Given the description of an element on the screen output the (x, y) to click on. 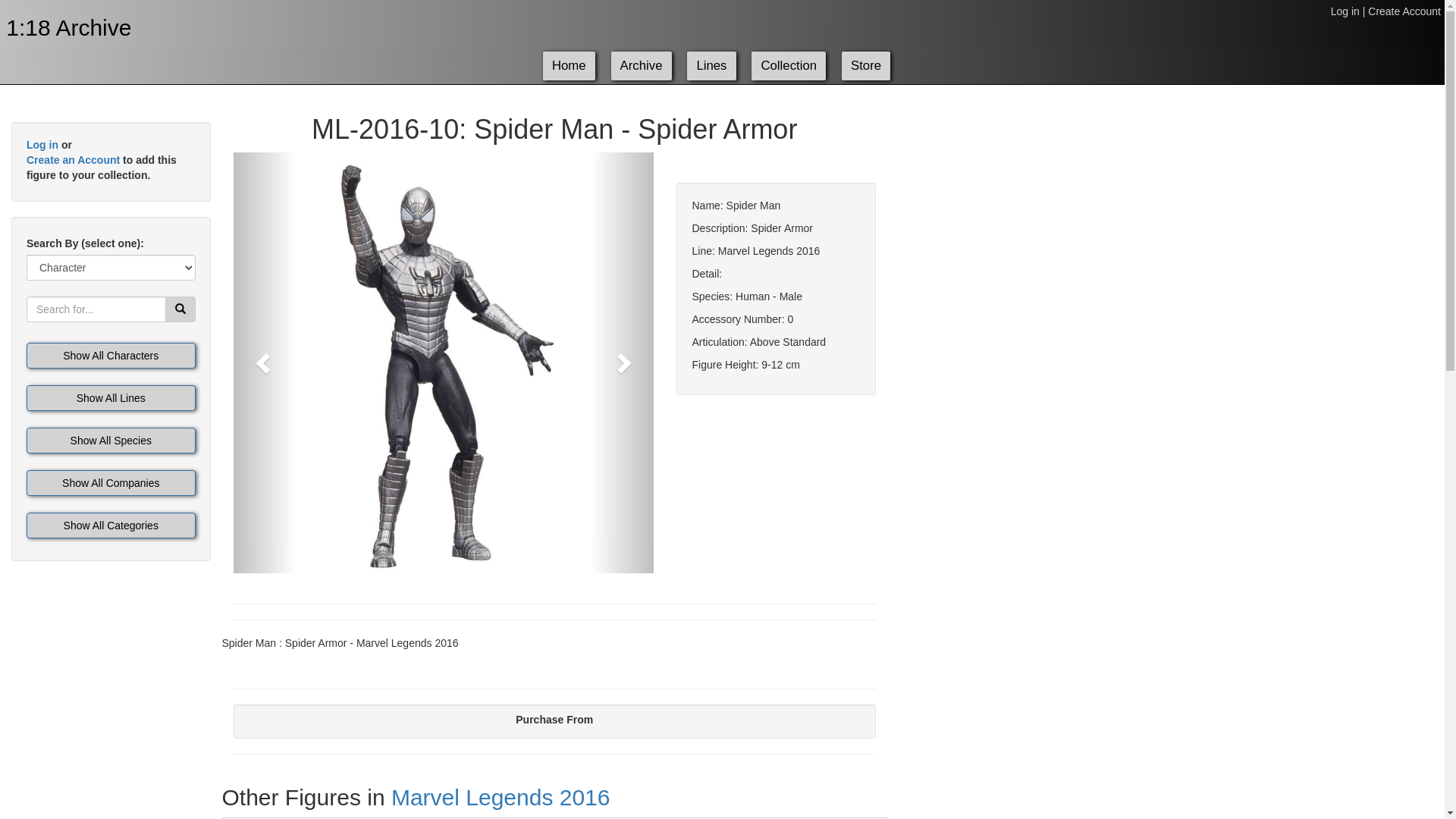
Store Element type: text (865, 65)
Search 1:18 Archive Element type: hover (180, 309)
Collection Element type: text (788, 65)
Search Element type: text (180, 309)
Create Account Element type: text (1404, 11)
Show All Characters Element type: text (110, 355)
Show All Species Element type: text (110, 440)
Lines Element type: text (711, 65)
Marvel Legends 2016 Element type: text (500, 796)
Archive Element type: text (641, 65)
Log in Element type: text (1344, 11)
Next Element type: text (621, 362)
Log in Element type: text (42, 144)
Home Element type: text (568, 65)
Previous Element type: text (264, 362)
Create an Account Element type: text (72, 159)
Show All Categories Element type: text (110, 525)
Show All Lines Element type: text (110, 398)
Show All Companies Element type: text (110, 482)
